Given the description of an element on the screen output the (x, y) to click on. 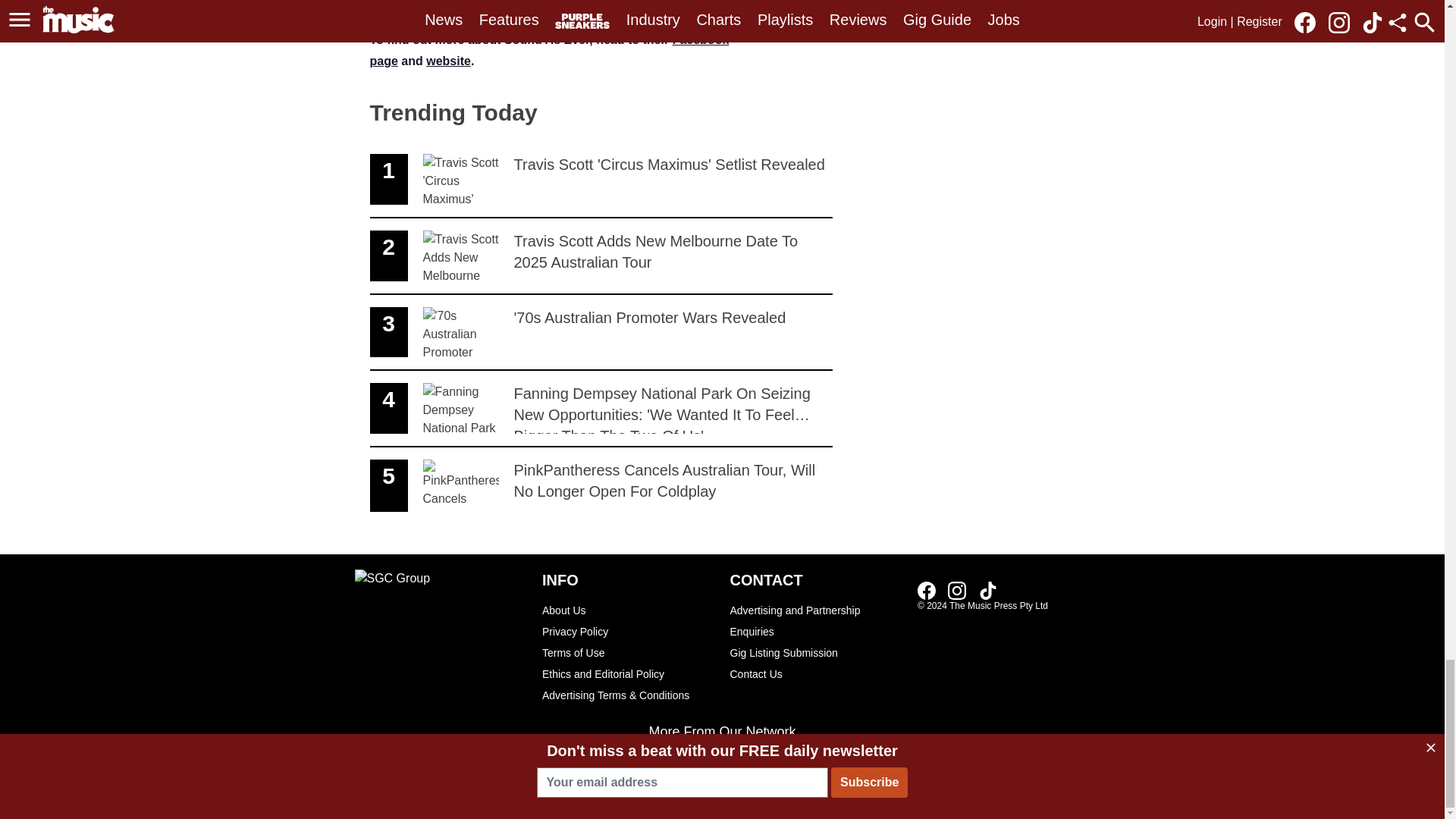
website (448, 60)
Facebook page (549, 50)
Link to our TikTok (600, 332)
Link to our Instagram (987, 590)
Link to our Facebook (600, 179)
